Given the description of an element on the screen output the (x, y) to click on. 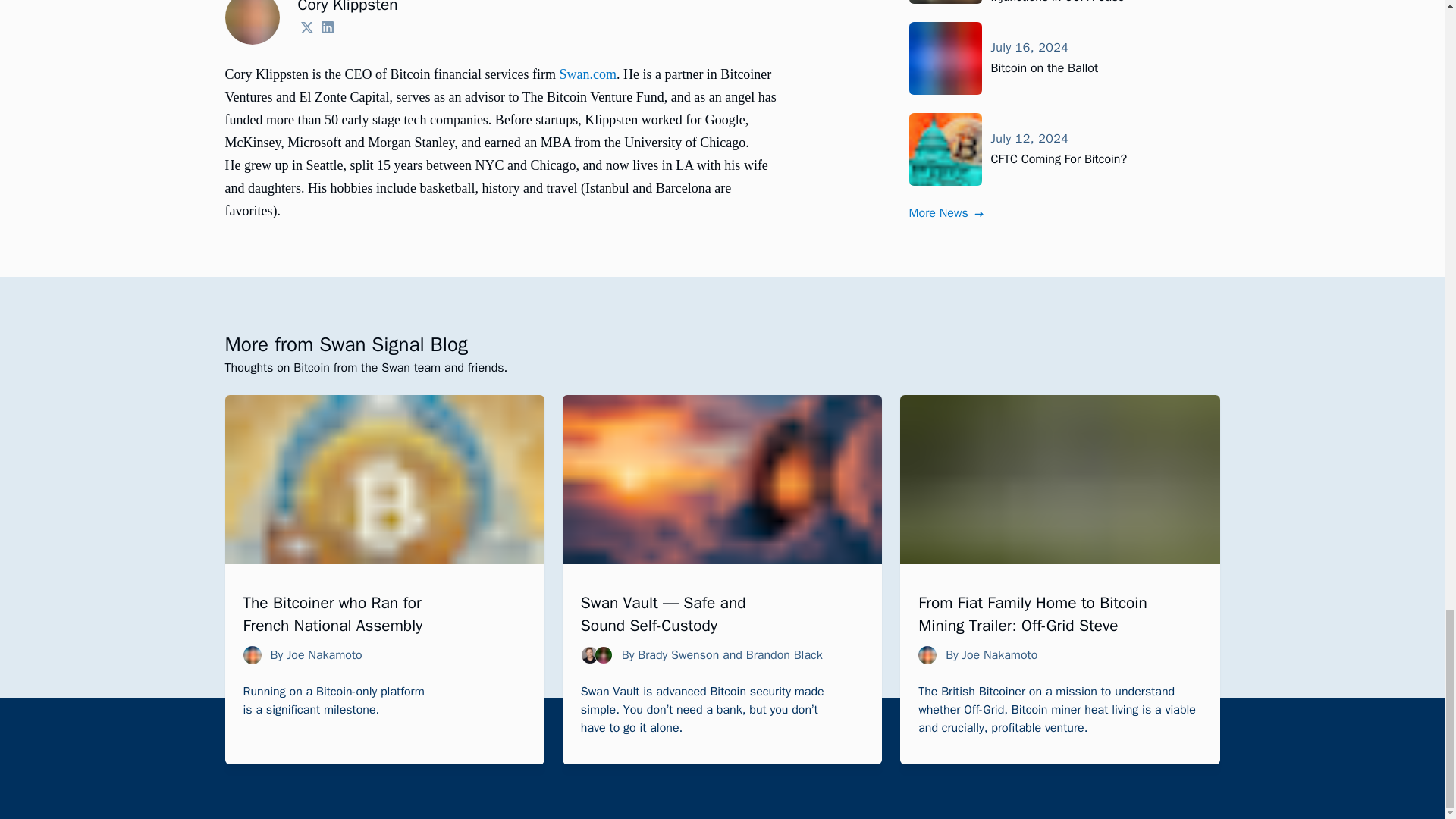
The Bitcoiner who Ran for French National Assembly (332, 613)
Swan.com (587, 73)
